Given the description of an element on the screen output the (x, y) to click on. 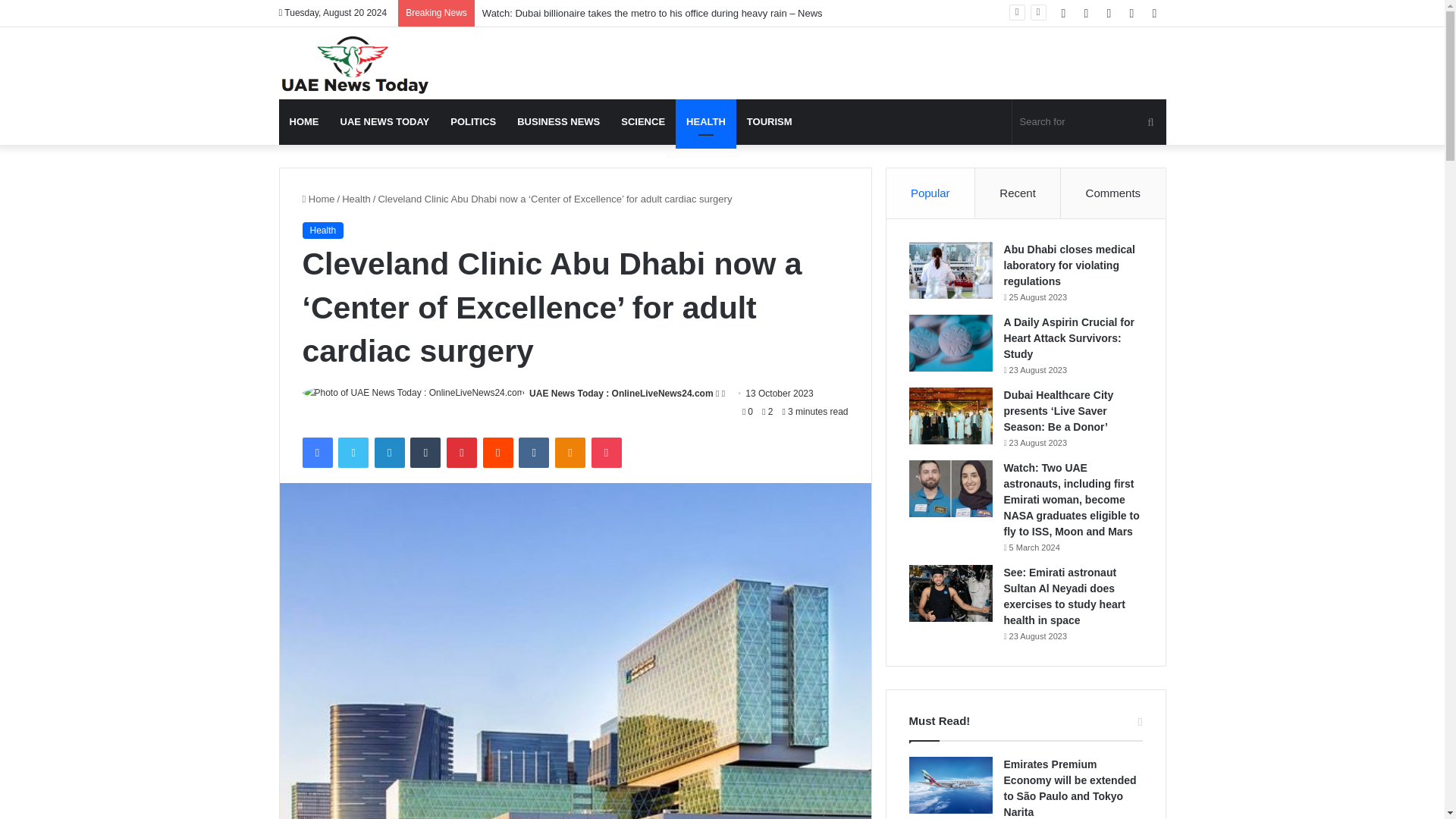
Reddit (498, 452)
Facebook (316, 452)
Twitter (352, 452)
Twitter (352, 452)
TOURISM (769, 121)
LinkedIn (389, 452)
UAE News Today : Dubai News : UAE News (354, 65)
Pocket (606, 452)
HEALTH (705, 121)
UAE News Today : OnlineLiveNews24.com (621, 393)
